Given the description of an element on the screen output the (x, y) to click on. 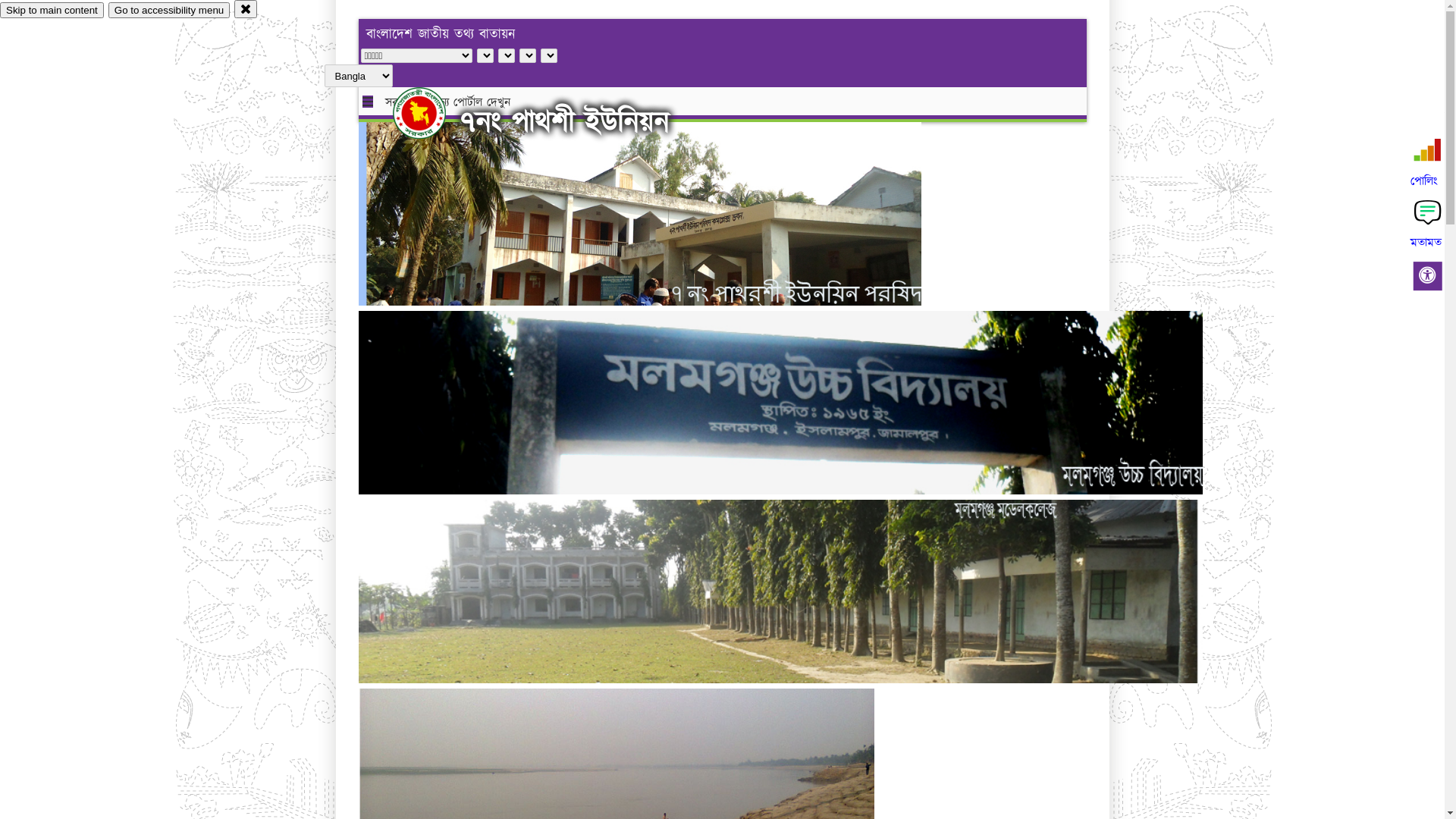
Go to accessibility menu Element type: text (168, 10)

                
             Element type: hover (431, 112)
Skip to main content Element type: text (51, 10)
close Element type: hover (245, 9)
